Given the description of an element on the screen output the (x, y) to click on. 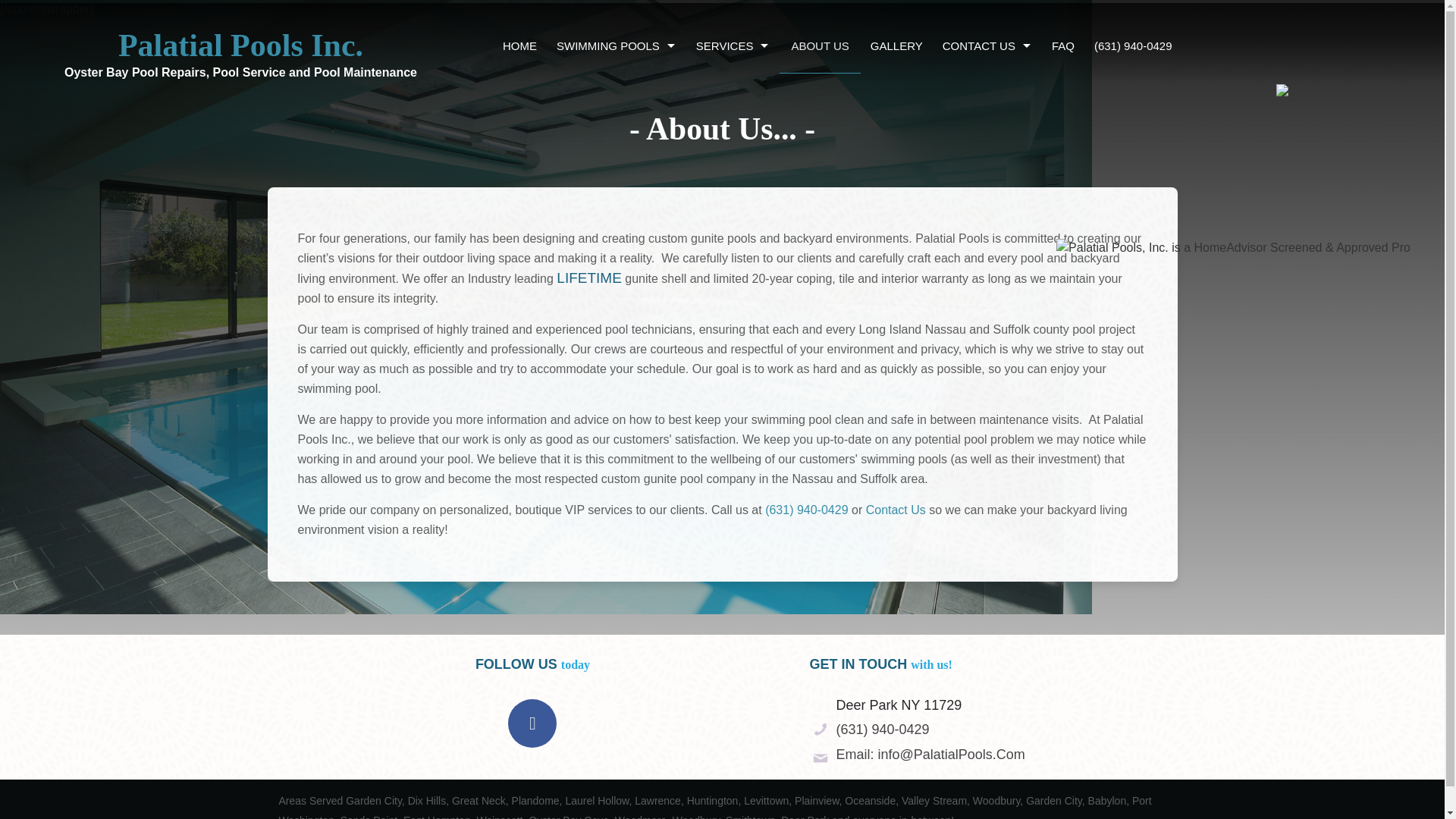
ABOUT US (819, 46)
Automatic Pool Covers (616, 169)
Custom Gunite Pools (616, 91)
Our Facebook Page (531, 725)
Palatial Pools Inc. (240, 41)
GALLERY (896, 45)
Opening (732, 169)
Pool And Equipment Repair (732, 130)
Swimming Pool Construction Process (616, 208)
SWIMMING POOLS (616, 45)
HOME (520, 45)
CONTACT US (987, 45)
Contact Us (987, 91)
Pool Maintenance (732, 91)
Closing (732, 208)
